Given the description of an element on the screen output the (x, y) to click on. 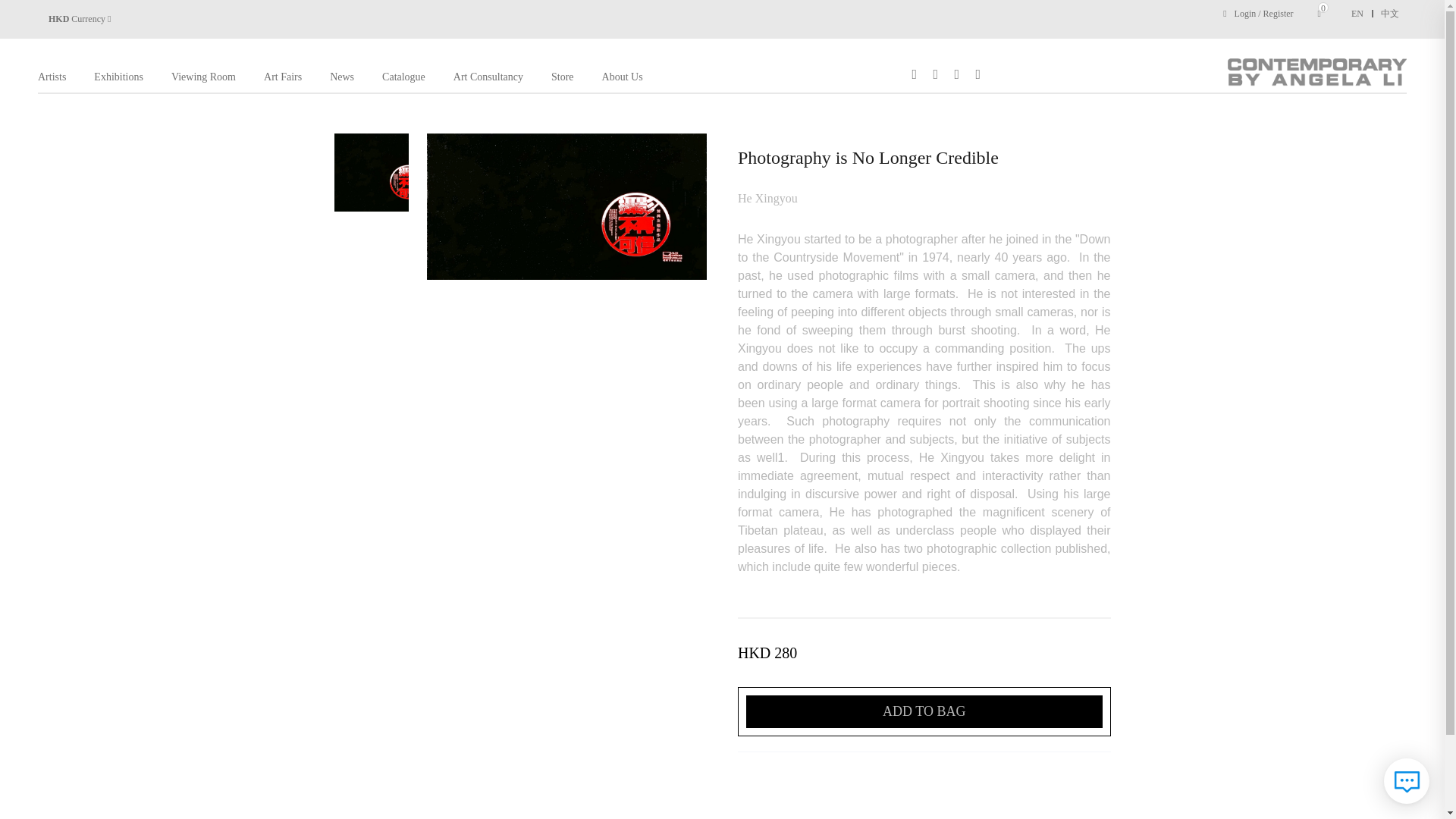
Art Consultancy (487, 77)
Catalogue (403, 77)
Store (562, 77)
Exhibitions (118, 77)
About Us (622, 77)
Viewing Room (203, 77)
News (341, 77)
EN (1362, 13)
Artists (51, 77)
HKD Currency (83, 18)
Art Fairs (282, 77)
Contemporary By Angela Li (1314, 71)
0 (1322, 13)
